Given the description of an element on the screen output the (x, y) to click on. 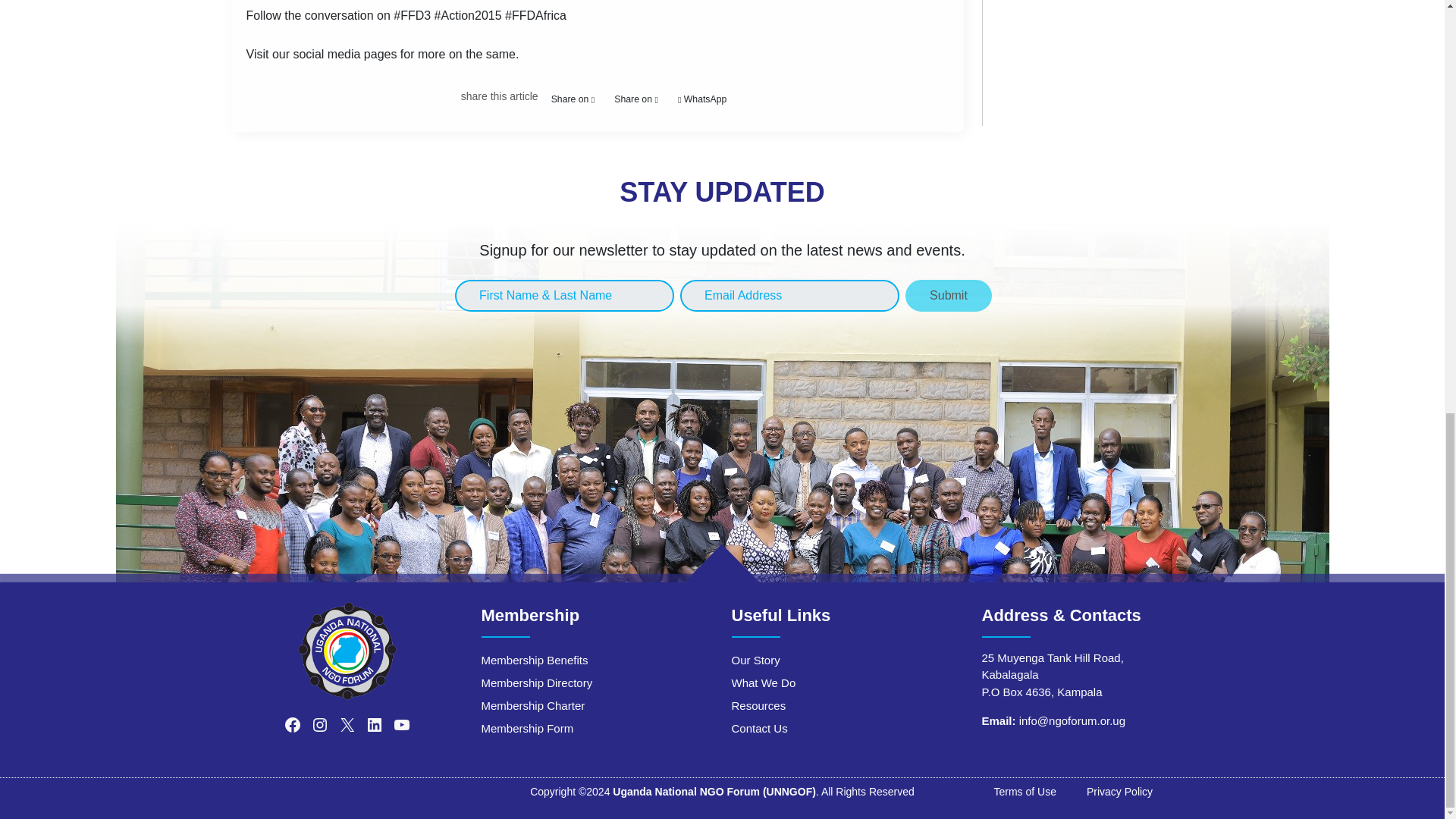
Facebook (573, 98)
Twitter (636, 98)
WhatsApp (702, 98)
